Given the description of an element on the screen output the (x, y) to click on. 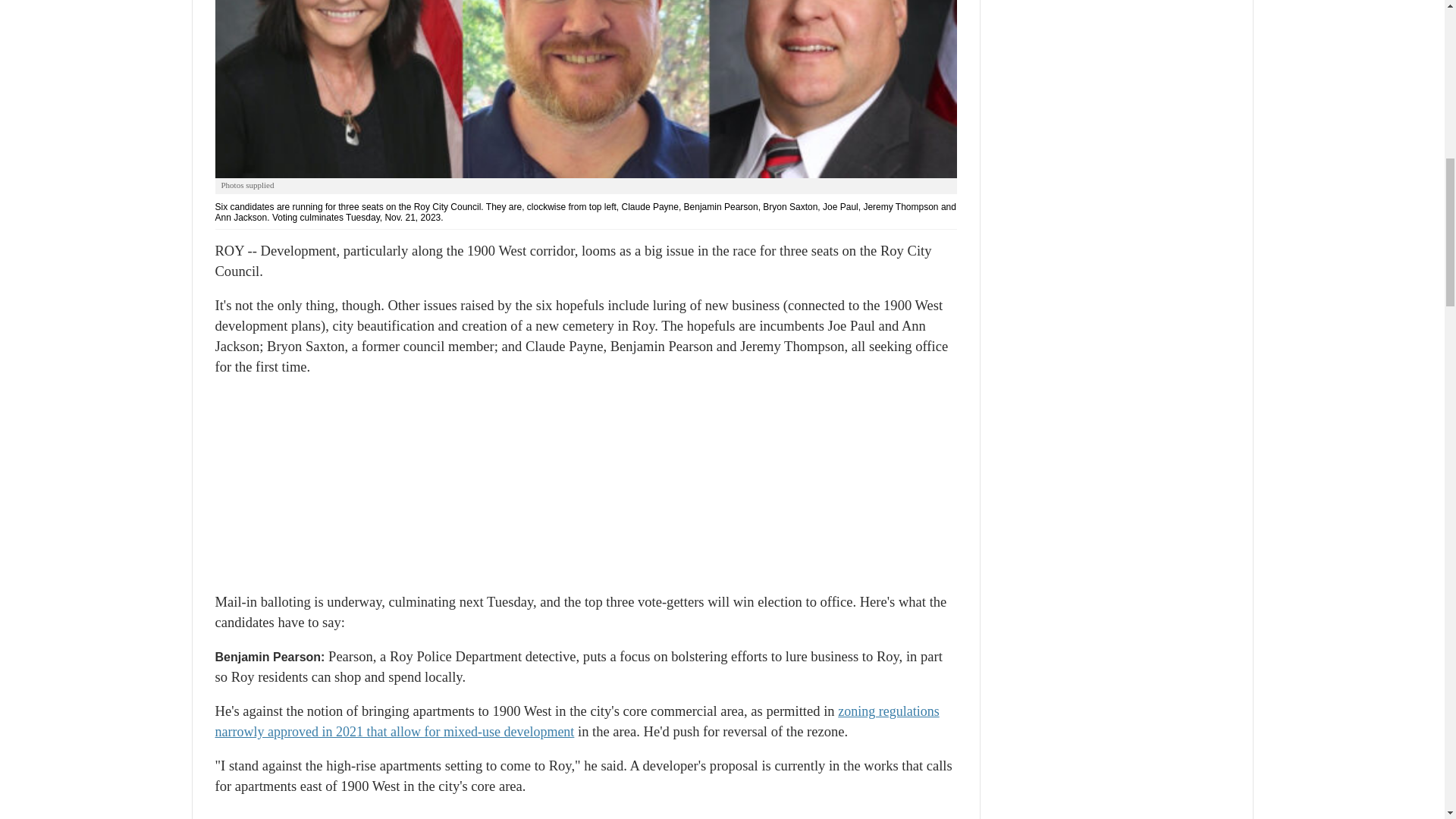
3rd party ad content (1116, 65)
3rd party ad content (584, 814)
3rd party ad content (584, 485)
3rd party ad content (1116, 238)
